Given the description of an element on the screen output the (x, y) to click on. 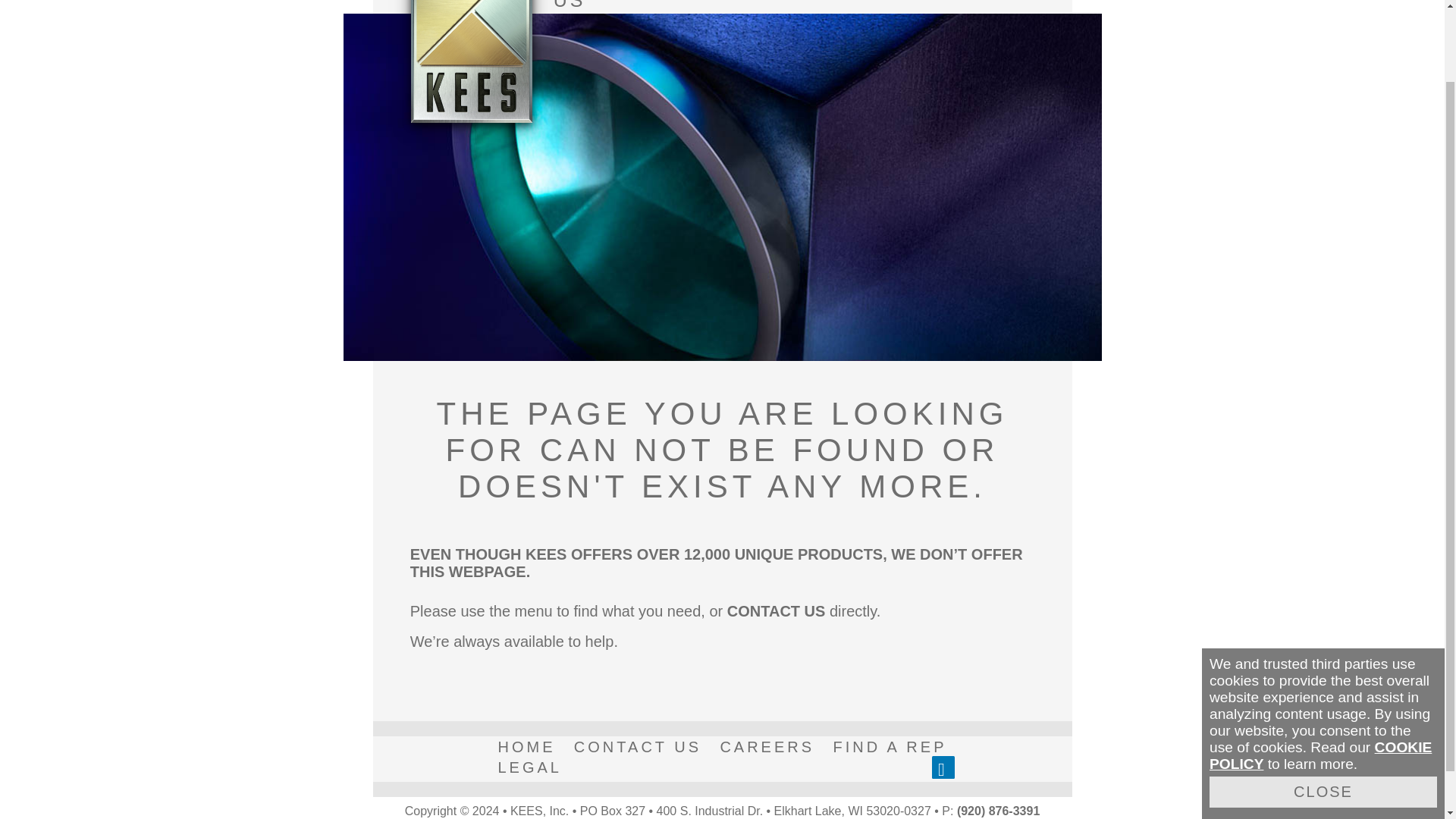
CONTACT US (775, 610)
HOME (525, 746)
ABOUT US (596, 6)
FIND A REP (889, 746)
Products (741, 6)
PRODUCTS (741, 6)
CAREERS (766, 746)
News (879, 6)
CONTACT US (637, 746)
COOKIE POLICY (1320, 671)
NEWS (879, 6)
KEES logo (471, 61)
LEGAL (529, 767)
CLOSE (1323, 707)
